Given the description of an element on the screen output the (x, y) to click on. 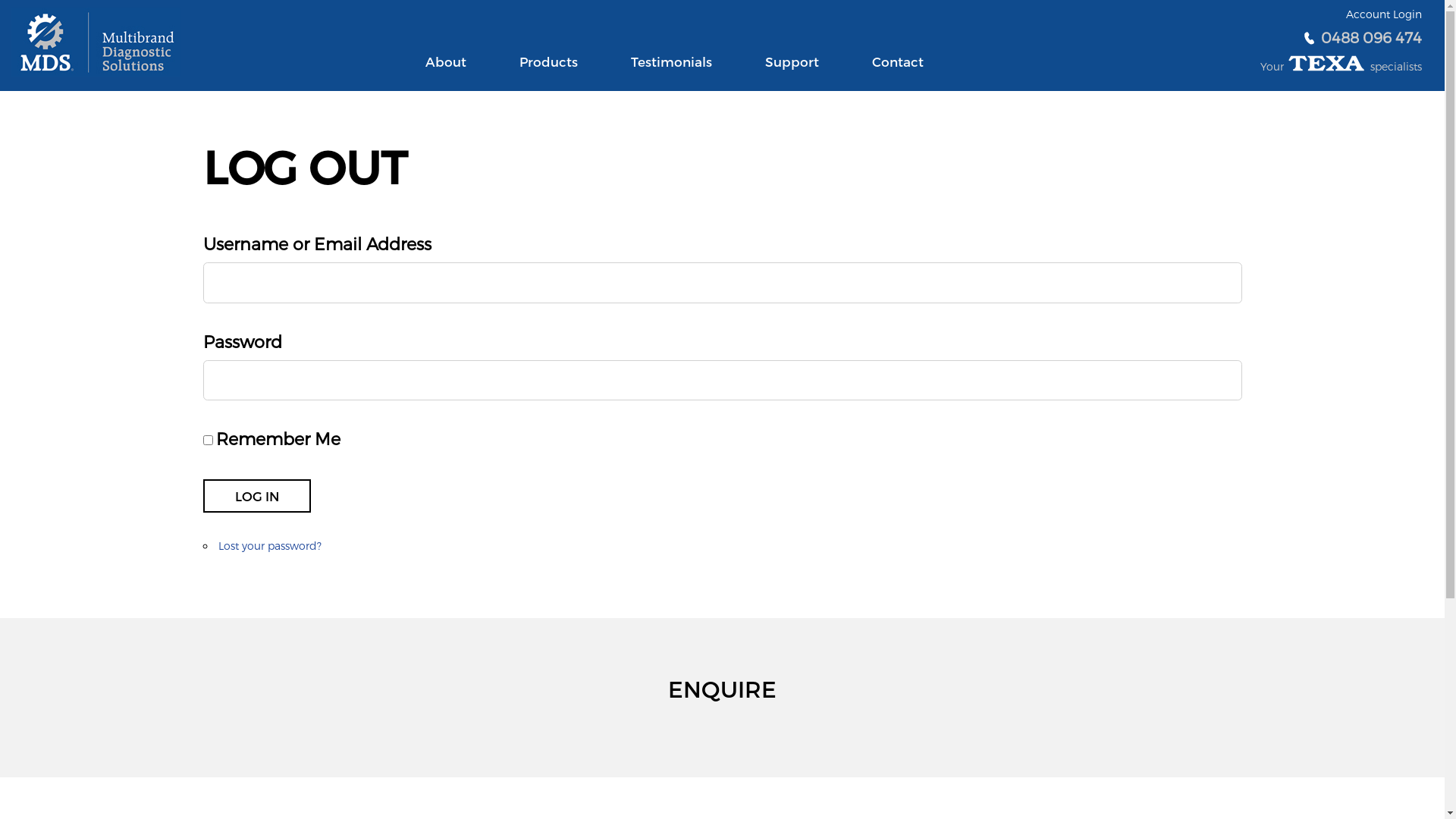
Multibrand Diagnostic Solutions Element type: hover (95, 41)
About Element type: text (445, 72)
Lost your password? Element type: text (269, 545)
Products Element type: text (548, 72)
Testimonials Element type: text (671, 72)
Support Element type: text (792, 72)
Account Login Element type: text (1383, 13)
Contact Element type: text (897, 72)
LOG IN Element type: text (256, 495)
